Given the description of an element on the screen output the (x, y) to click on. 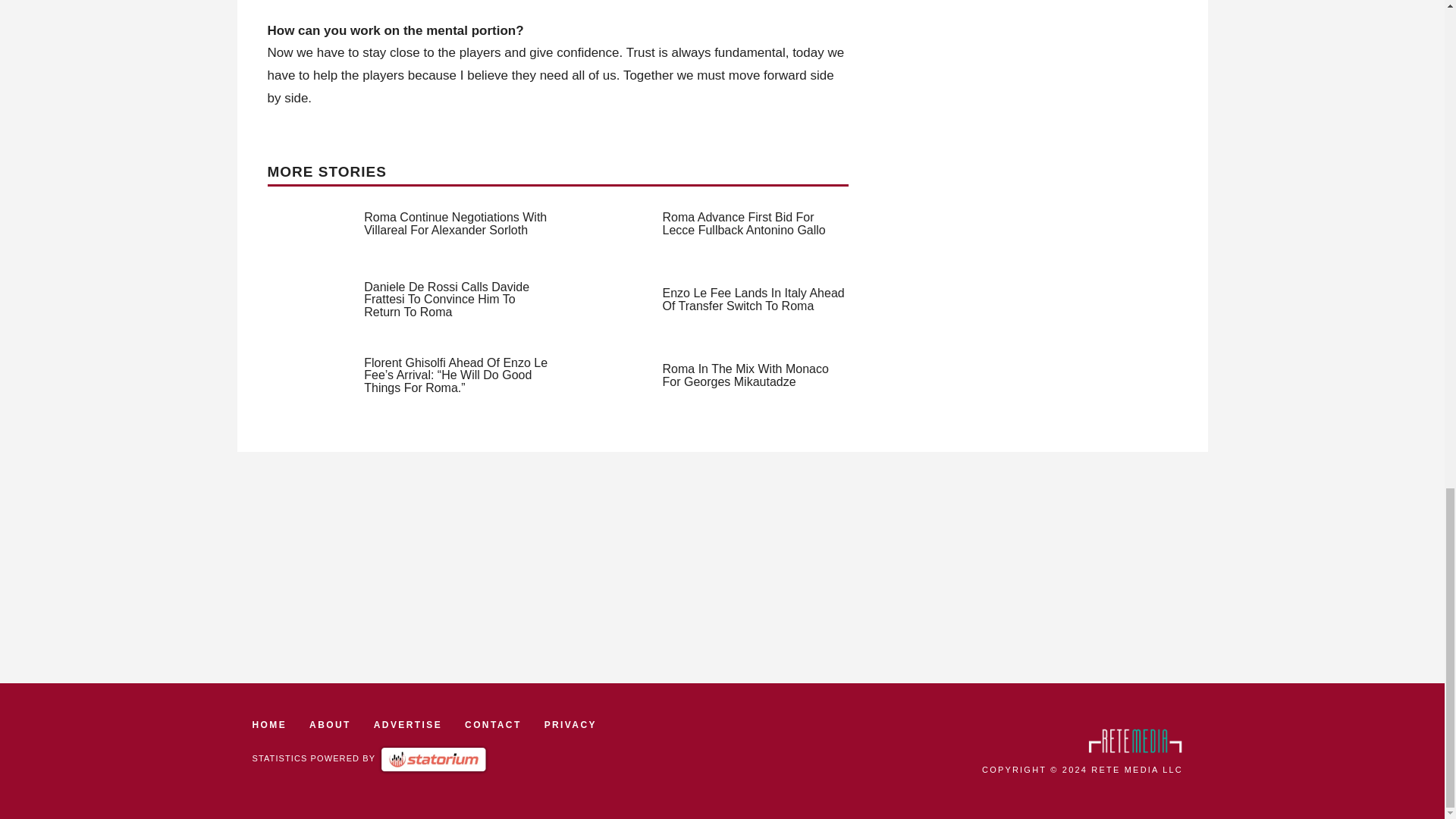
ADVERTISE (408, 725)
Enzo Le Fee Lands In Italy Ahead Of Transfer Switch To Roma (753, 299)
HOME (268, 725)
Roma Advance First Bid For Lecce Fullback Antonino Gallo (743, 223)
Roma In The Mix With Monaco For Georges Mikautadze (745, 375)
ABOUT (329, 725)
PRIVACY (570, 725)
X (1434, 357)
CONTACT (492, 725)
